Given the description of an element on the screen output the (x, y) to click on. 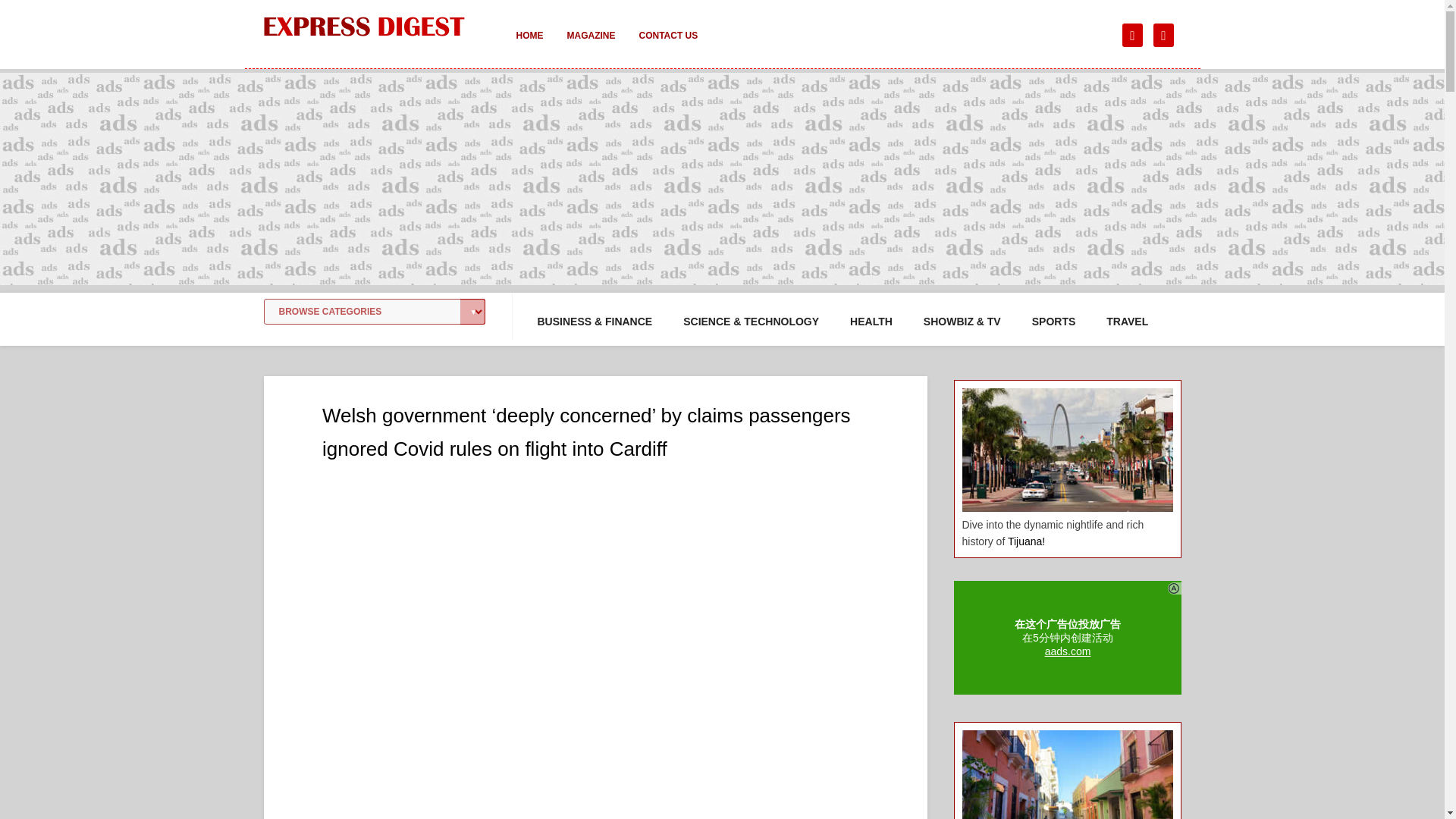
TRAVEL (1127, 321)
HEALTH (871, 321)
CONTACT US (667, 45)
Tijuana! (1026, 541)
SPORTS (1053, 321)
MAGAZINE (590, 45)
